Given the description of an element on the screen output the (x, y) to click on. 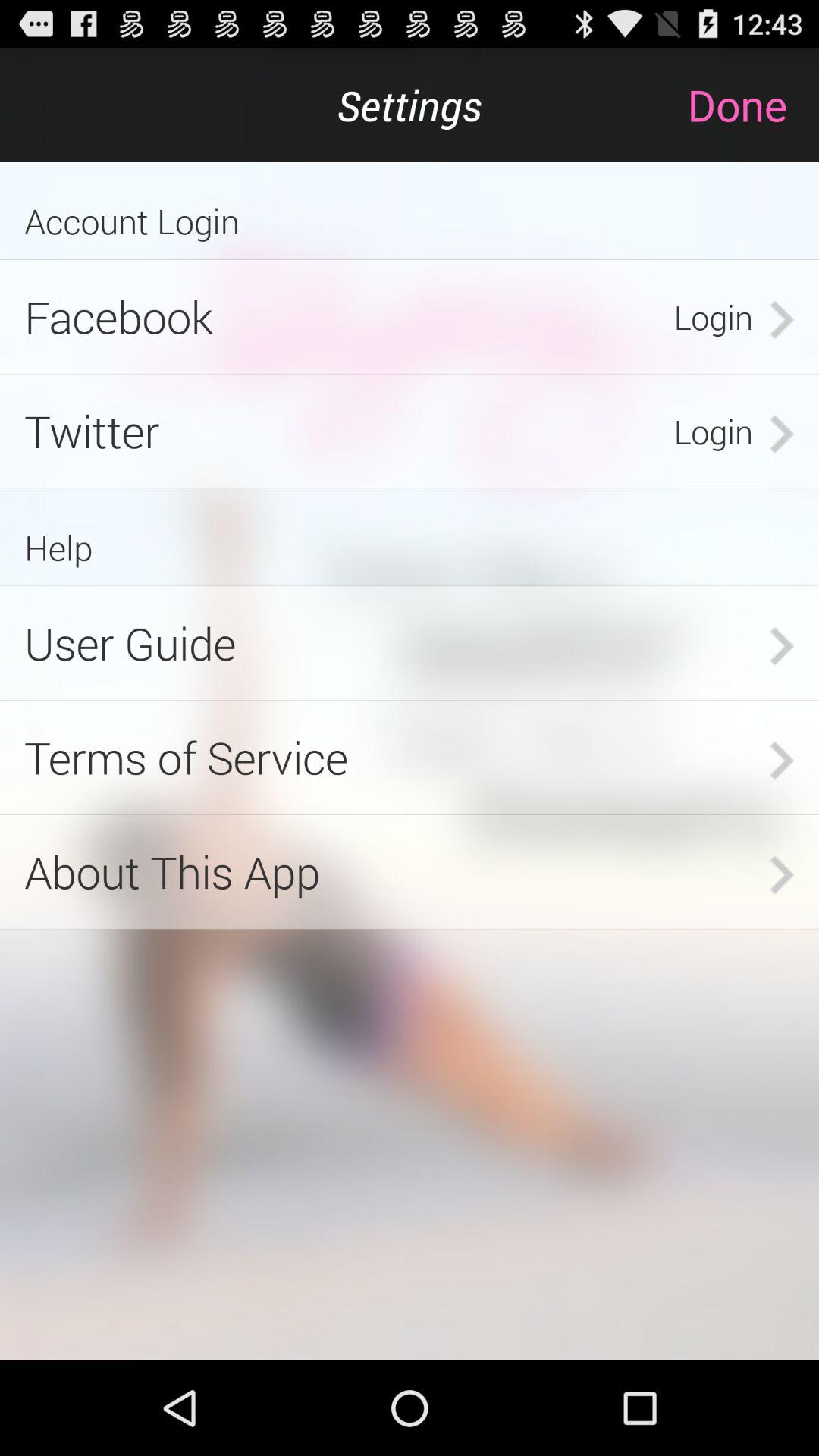
open item next to settings icon (752, 104)
